Given the description of an element on the screen output the (x, y) to click on. 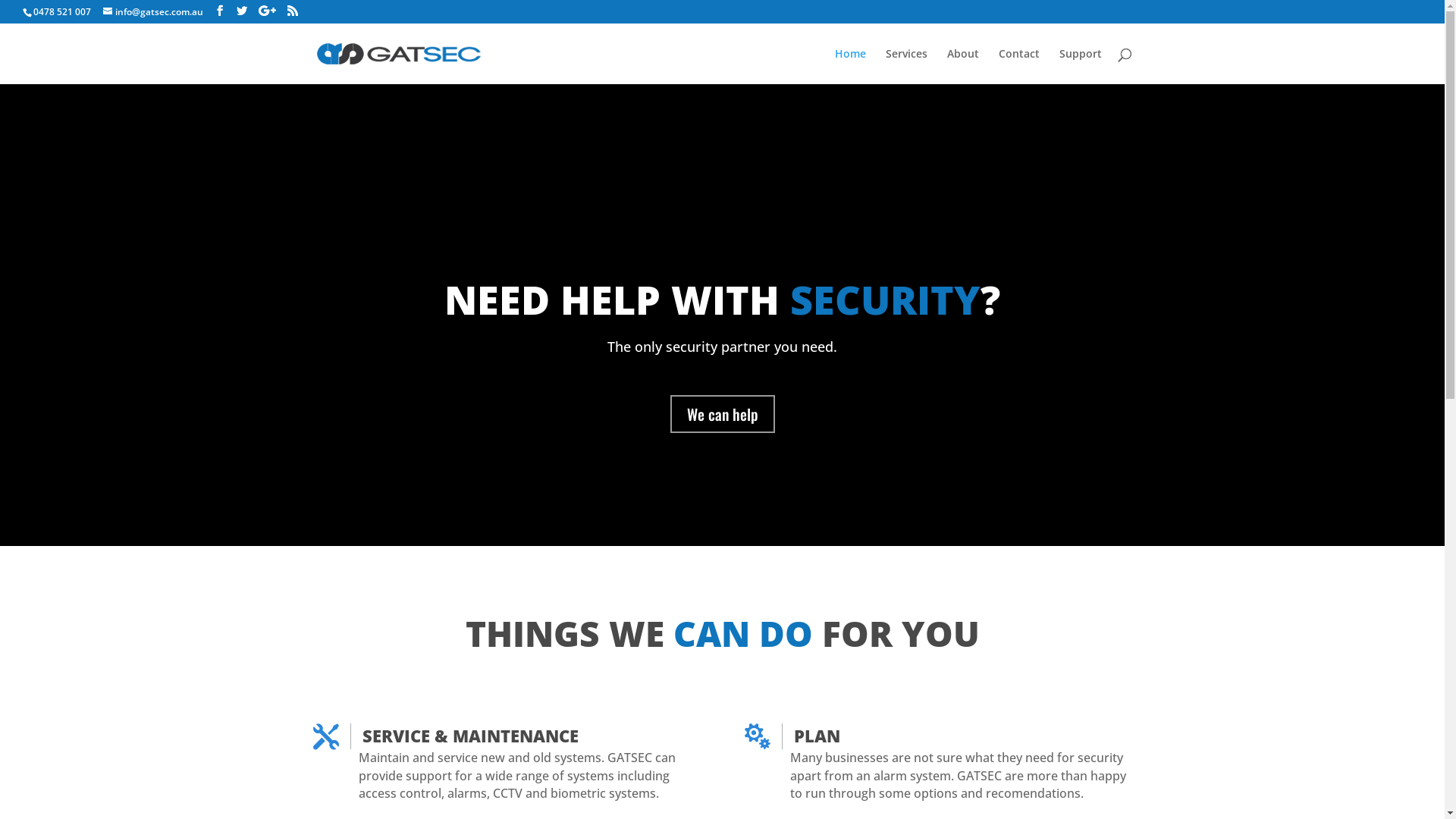
Home Element type: text (849, 66)
Services Element type: text (906, 66)
Support Element type: text (1079, 66)
We can help Element type: text (722, 413)
Contact Element type: text (1017, 66)
About Element type: text (962, 66)
info@gatsec.com.au Element type: text (153, 11)
